Given the description of an element on the screen output the (x, y) to click on. 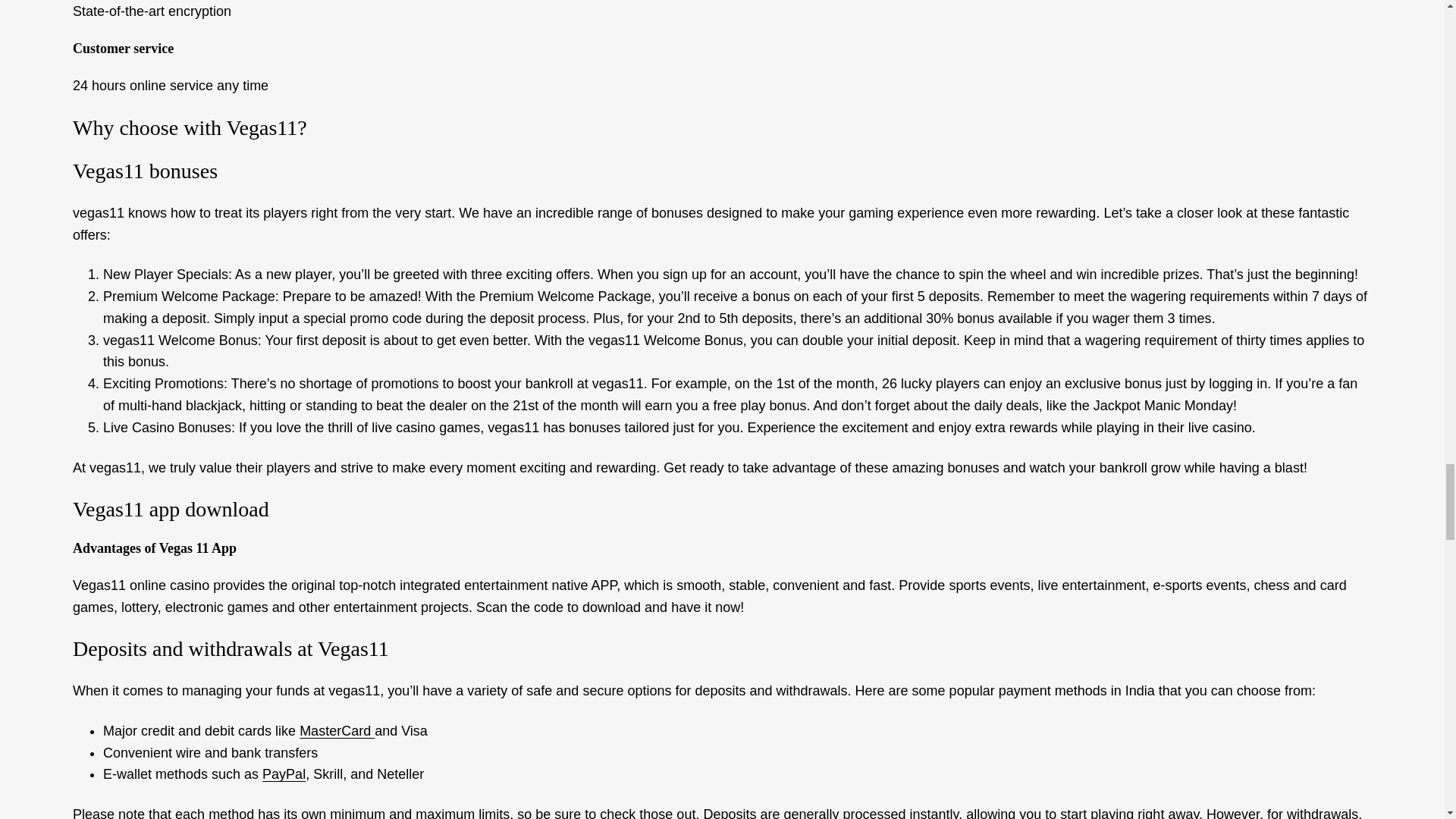
MasterCard (336, 730)
PayPal (283, 774)
